Given the description of an element on the screen output the (x, y) to click on. 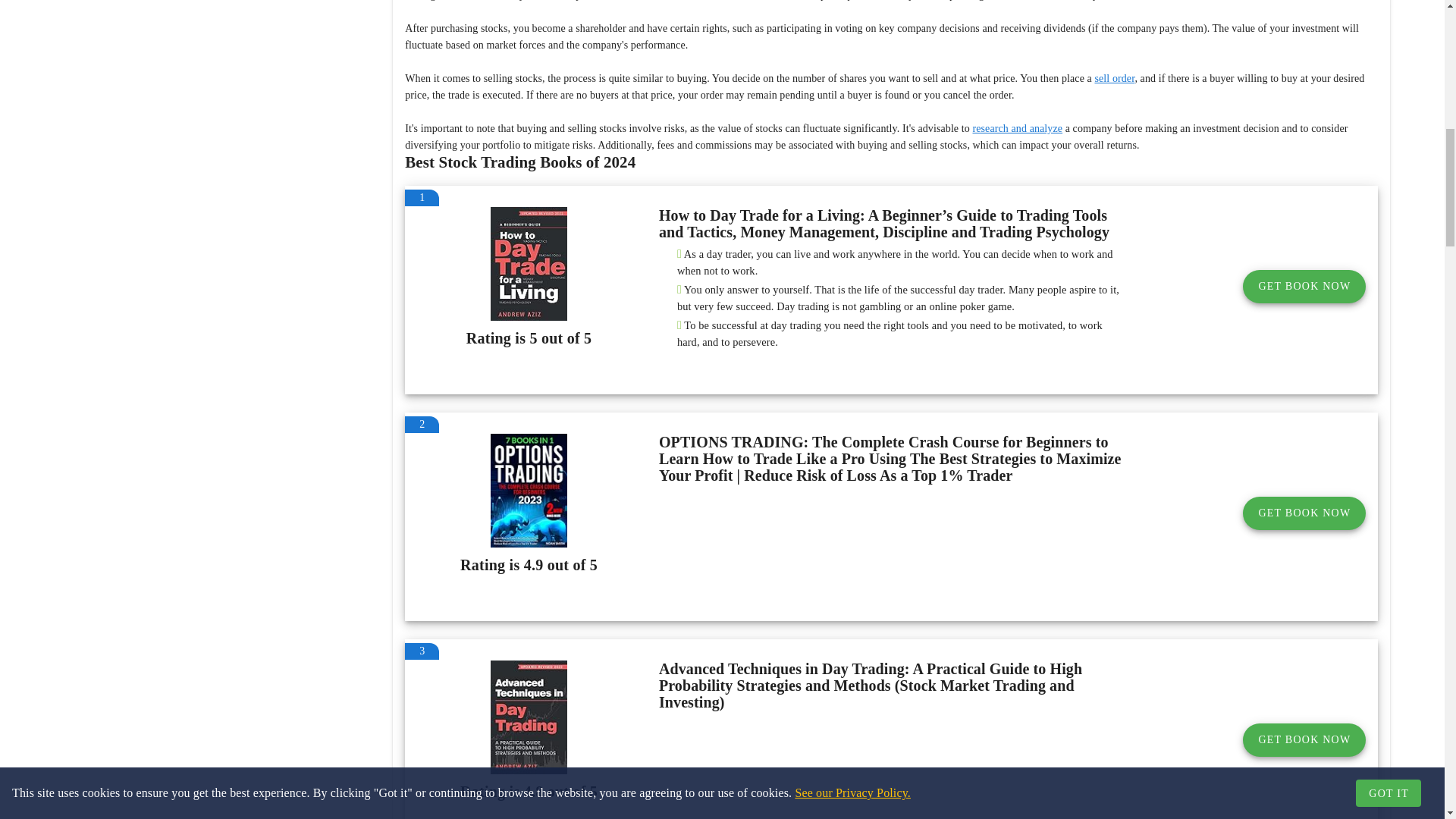
GET BOOK NOW (1304, 286)
sell order (1114, 78)
research and analyze (1017, 128)
GET BOOK NOW (1304, 512)
